Given the description of an element on the screen output the (x, y) to click on. 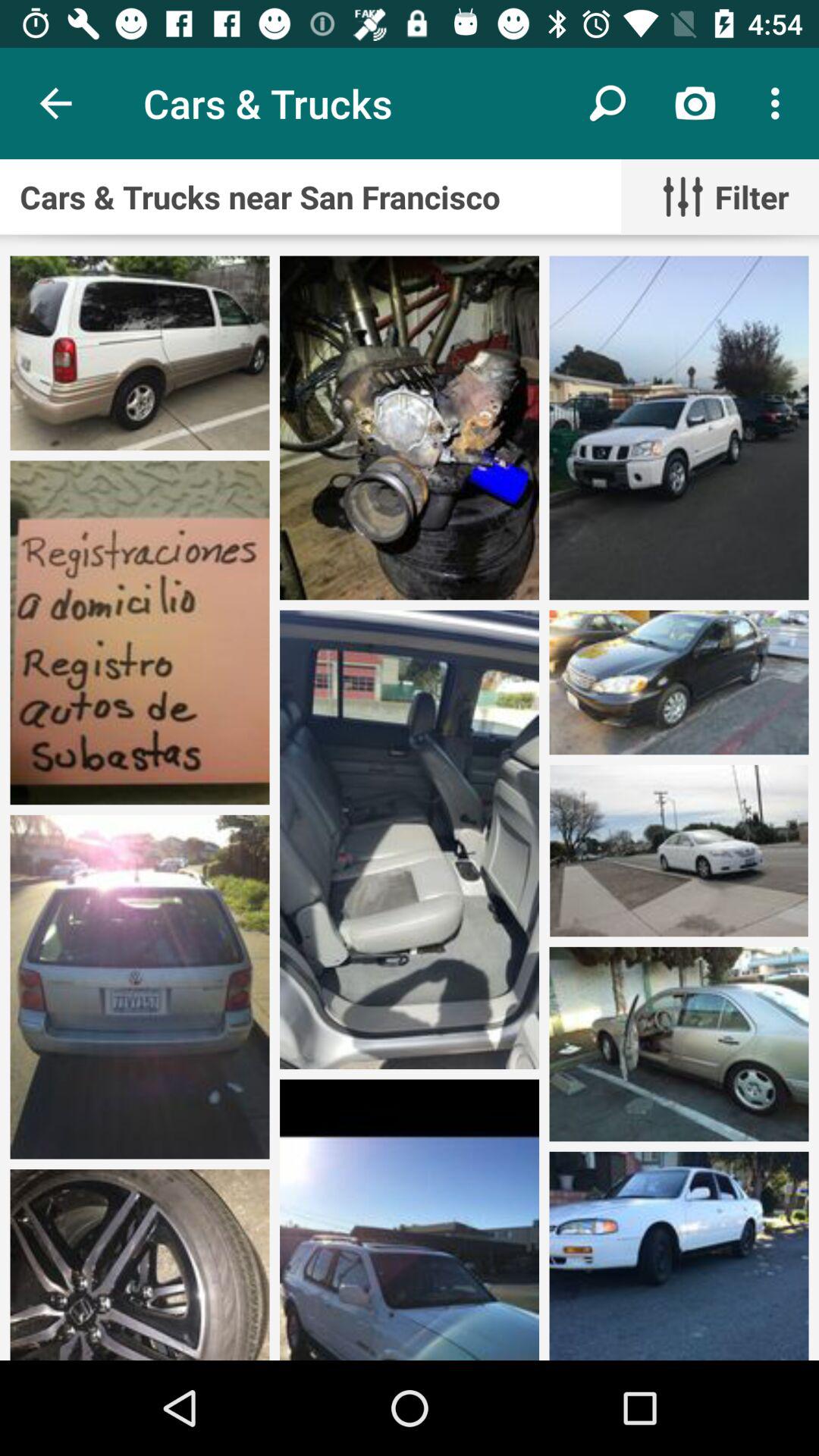
open item to the left of cars & trucks icon (55, 103)
